Given the description of an element on the screen output the (x, y) to click on. 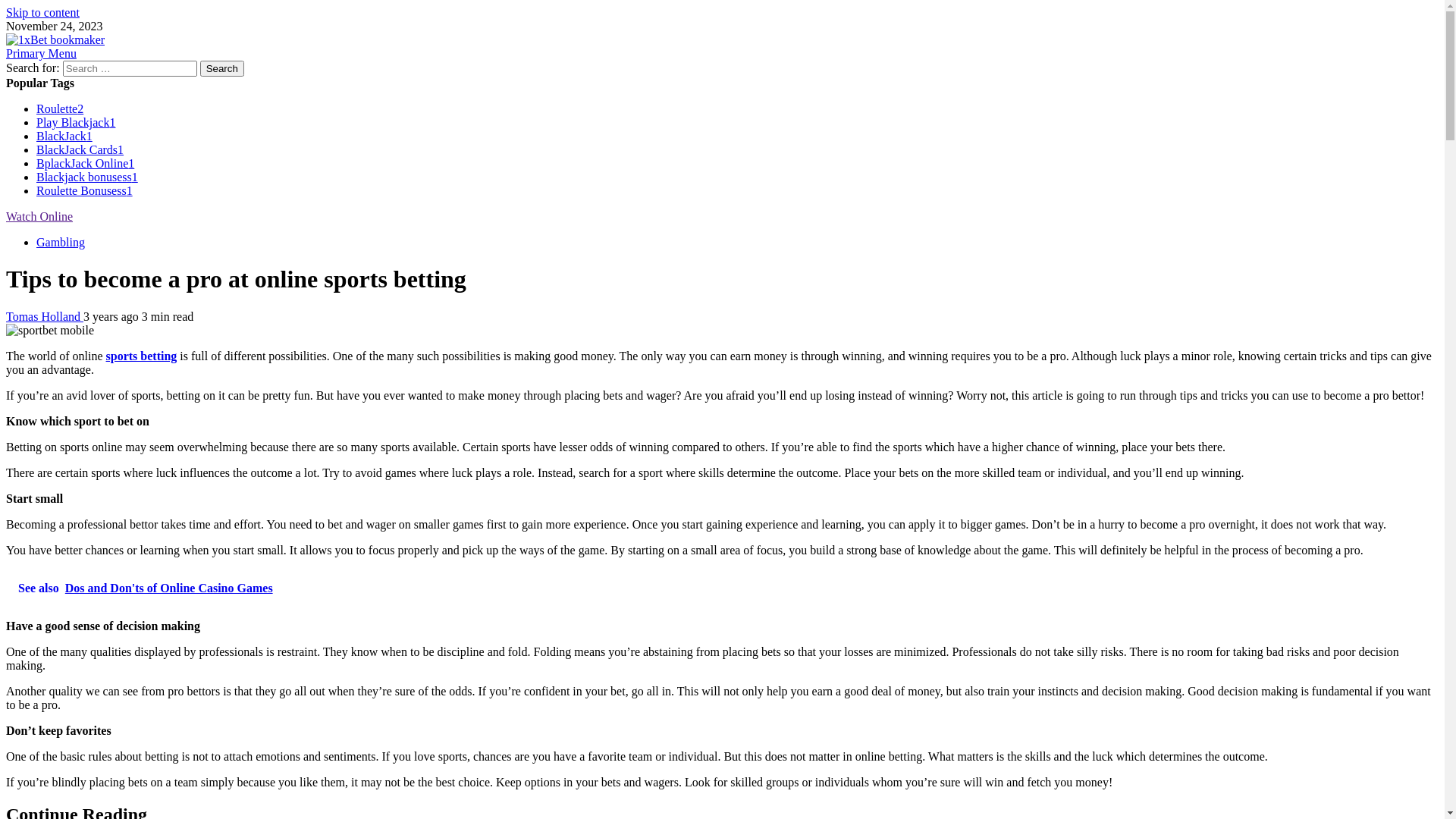
sports betting Element type: text (141, 355)
Roulette Bonusess1 Element type: text (84, 190)
Blackjack bonusess1 Element type: text (87, 176)
See also  Dos and Don'ts of Online Casino Games Element type: text (722, 588)
Play Blackjack1 Element type: text (75, 122)
Roulette2 Element type: text (59, 108)
Primary Menu Element type: text (41, 53)
BlackJack1 Element type: text (64, 135)
Tomas Holland Element type: text (44, 316)
Skip to content Element type: text (42, 12)
Gambling Element type: text (60, 241)
Search Element type: text (222, 68)
Watch Online Element type: text (39, 216)
BlackJack Cards1 Element type: text (79, 149)
BplackJack Online1 Element type: text (85, 162)
